Given the description of an element on the screen output the (x, y) to click on. 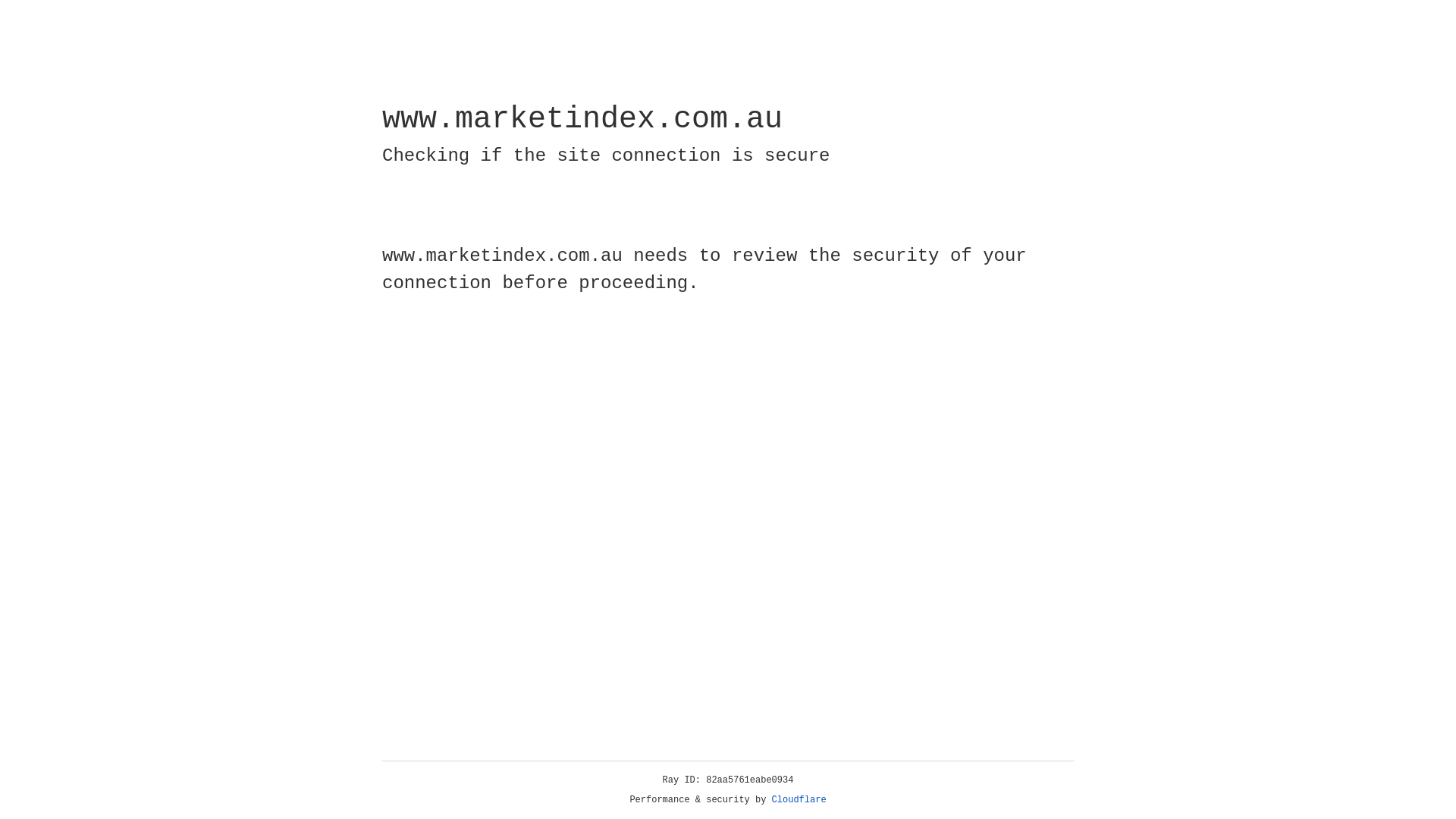
Cloudflare Element type: text (798, 799)
